Given the description of an element on the screen output the (x, y) to click on. 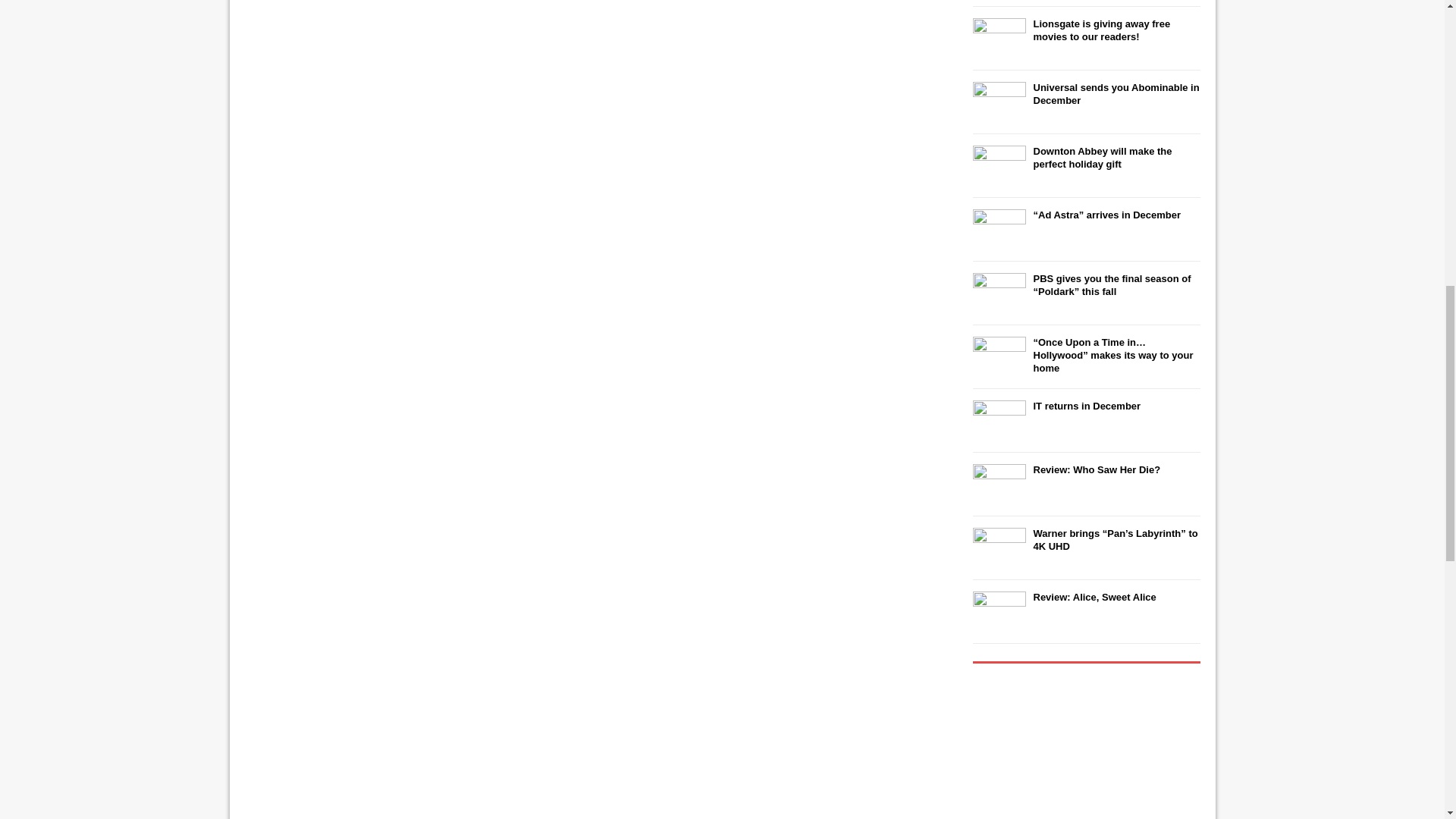
Lionsgate is giving away free movies to our readers! (1101, 30)
Universal sends you Abominable in December (1115, 93)
Downton Abbey will make the perfect holiday gift (1102, 157)
